Given the description of an element on the screen output the (x, y) to click on. 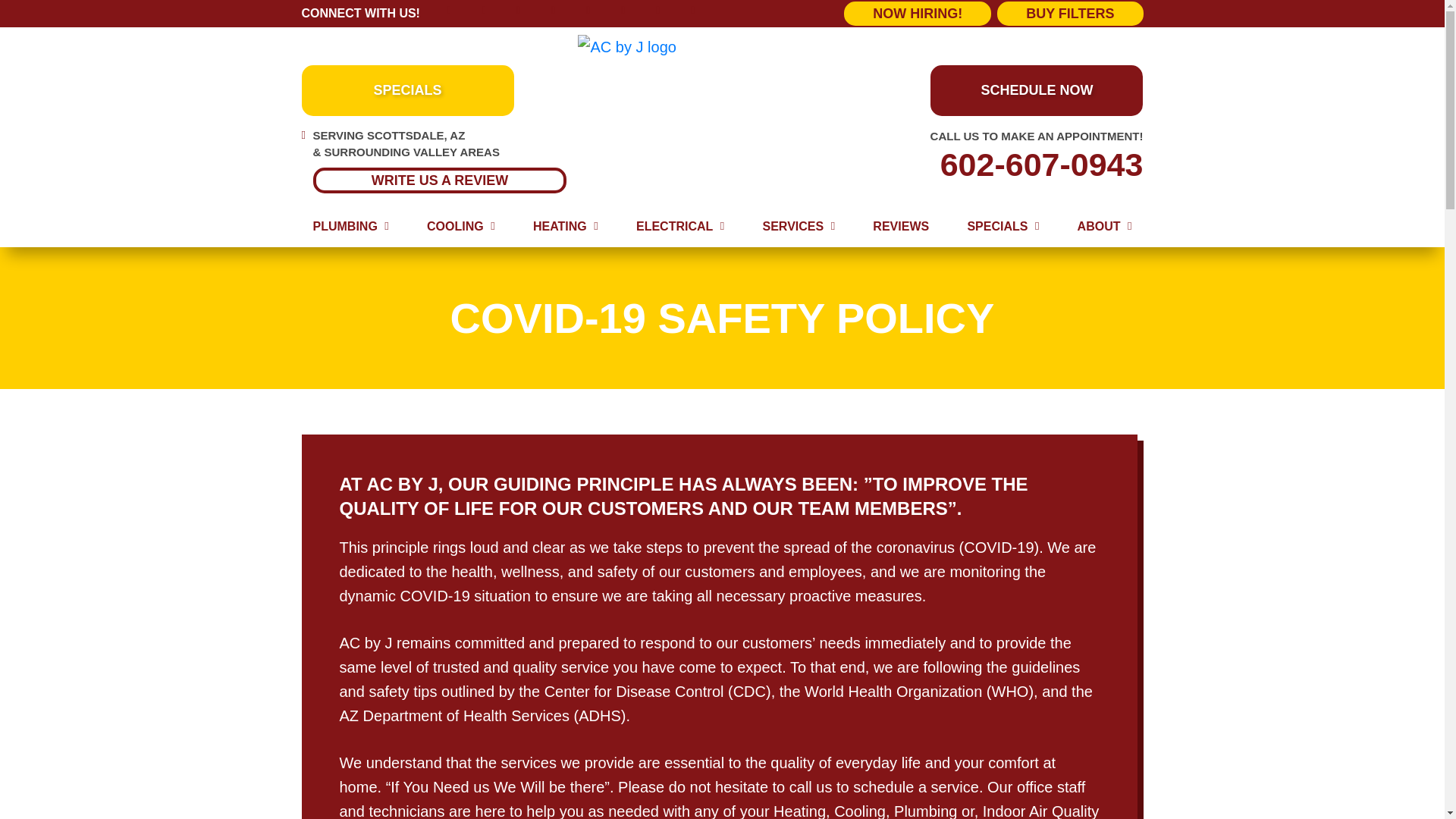
NOW HIRING! (917, 13)
PLUMBING (350, 226)
AC by J (722, 46)
602-607-0943 (1009, 165)
SPECIALS (407, 90)
BUY FILTERS (1069, 13)
WRITE US A REVIEW (439, 179)
SCHEDULE NOW (1036, 90)
